Given the description of an element on the screen output the (x, y) to click on. 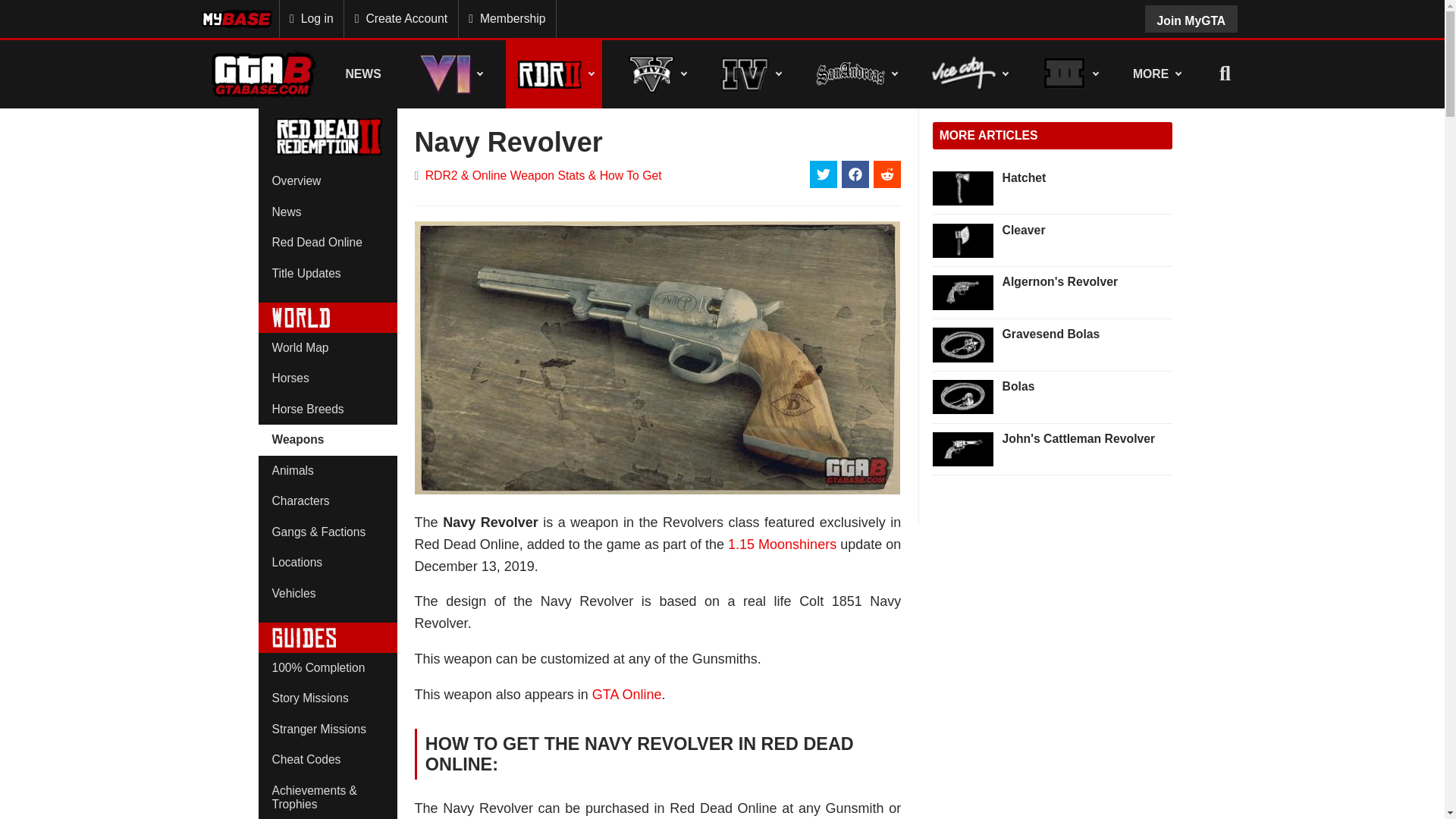
MyBase Membership (237, 18)
GTA 6 (448, 73)
facebook (855, 174)
Membership (507, 18)
GTA Base (263, 73)
reddit (887, 174)
twitter (823, 174)
Log in (311, 18)
Navy Revolver (656, 357)
Join MyGTA (1190, 18)
GTA Base (263, 73)
MyBase (237, 18)
RED DEAD 2 (553, 73)
Create Account (400, 18)
